Given the description of an element on the screen output the (x, y) to click on. 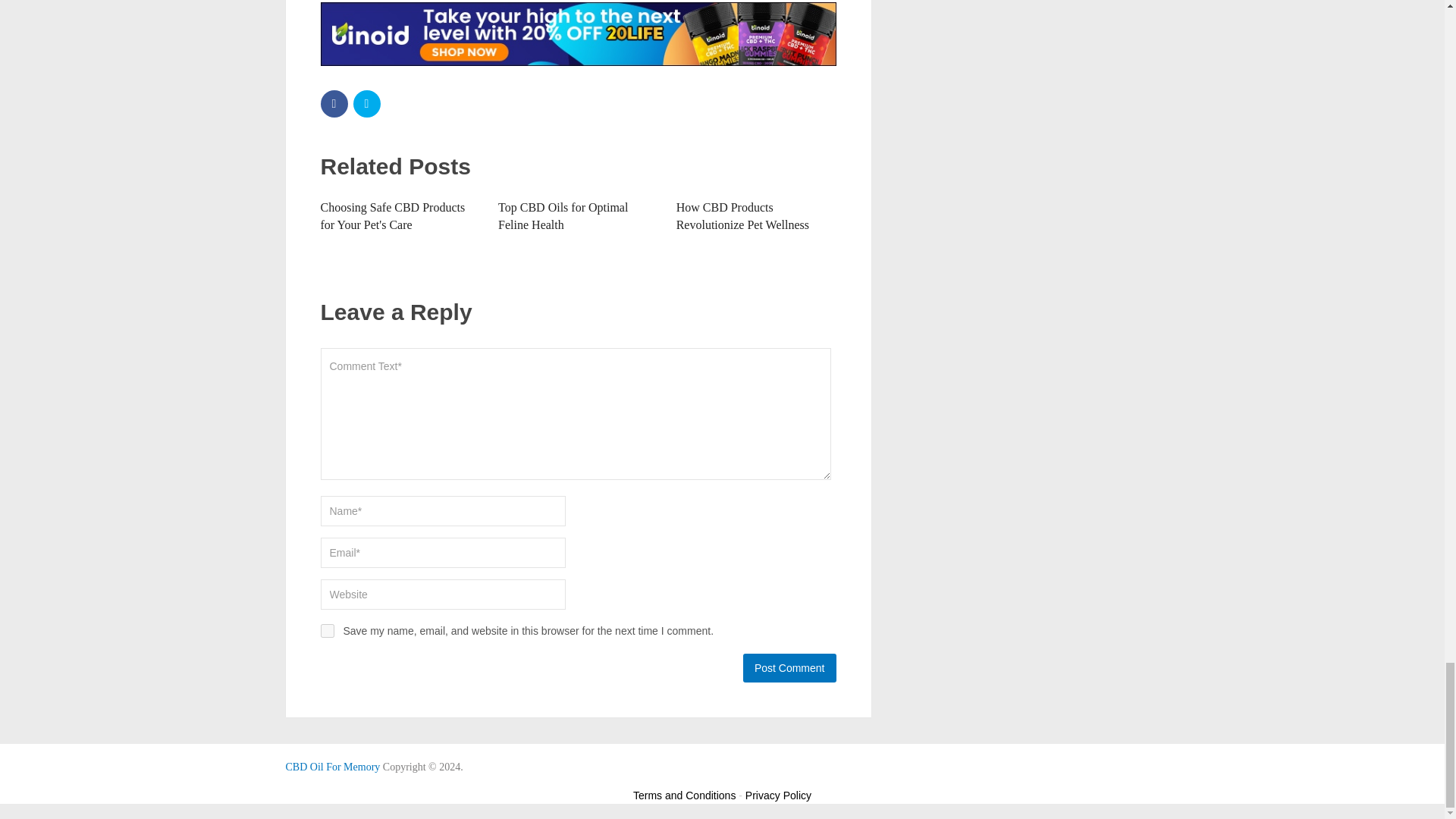
yes (326, 631)
How CBD Products Revolutionize Pet Wellness (743, 215)
Post Comment (788, 667)
How CBD Products Revolutionize Pet Wellness (743, 215)
Top CBD Oils for Optimal Feline Health (562, 215)
Post Comment (788, 667)
Choosing Safe CBD Products for Your Pet's Care (392, 215)
Choosing Safe CBD Products for Your Pet's Care (392, 215)
Top CBD Oils for Optimal Feline Health (562, 215)
